Given the description of an element on the screen output the (x, y) to click on. 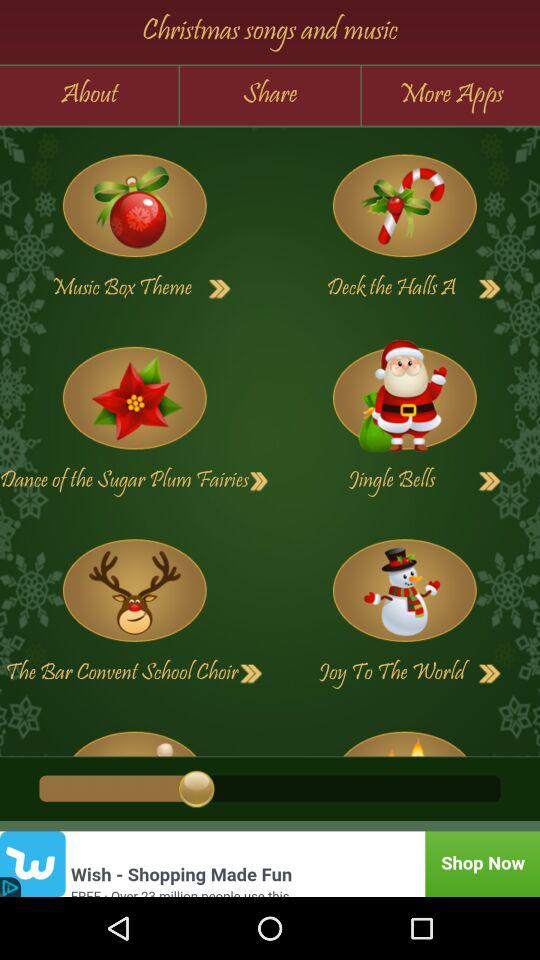
access button (259, 481)
